Given the description of an element on the screen output the (x, y) to click on. 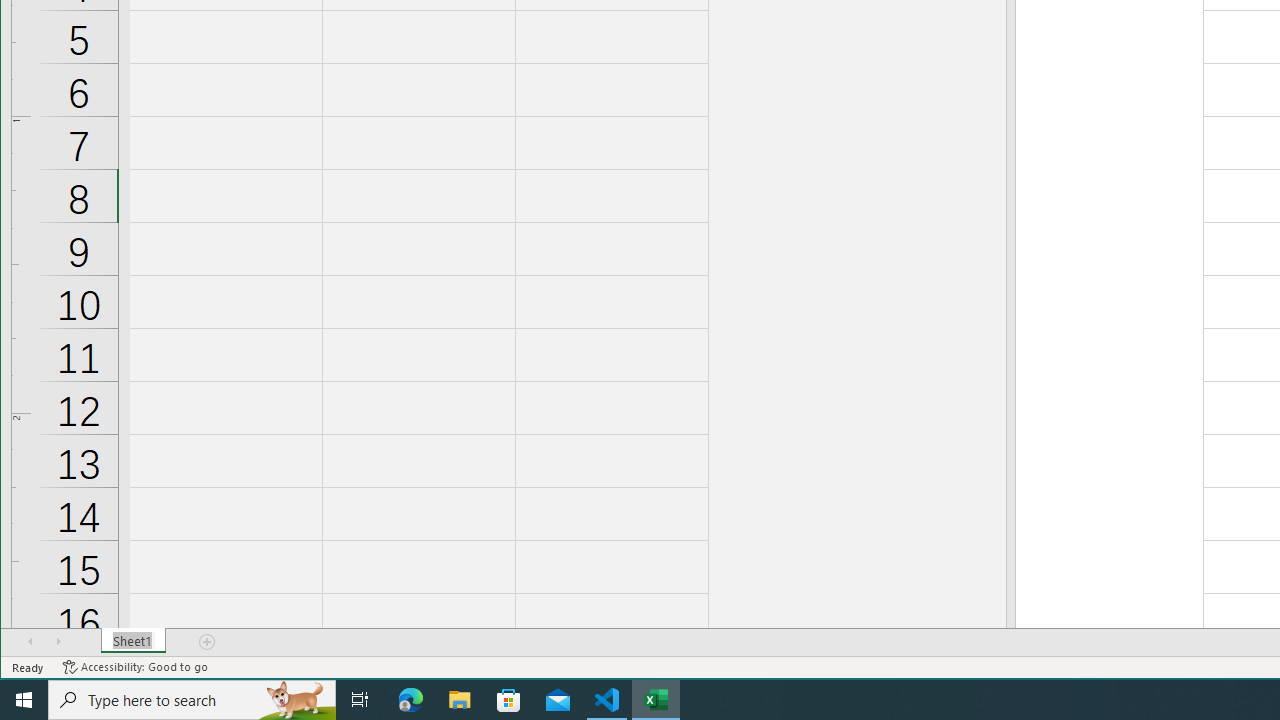
Microsoft Store (509, 699)
